Given the description of an element on the screen output the (x, y) to click on. 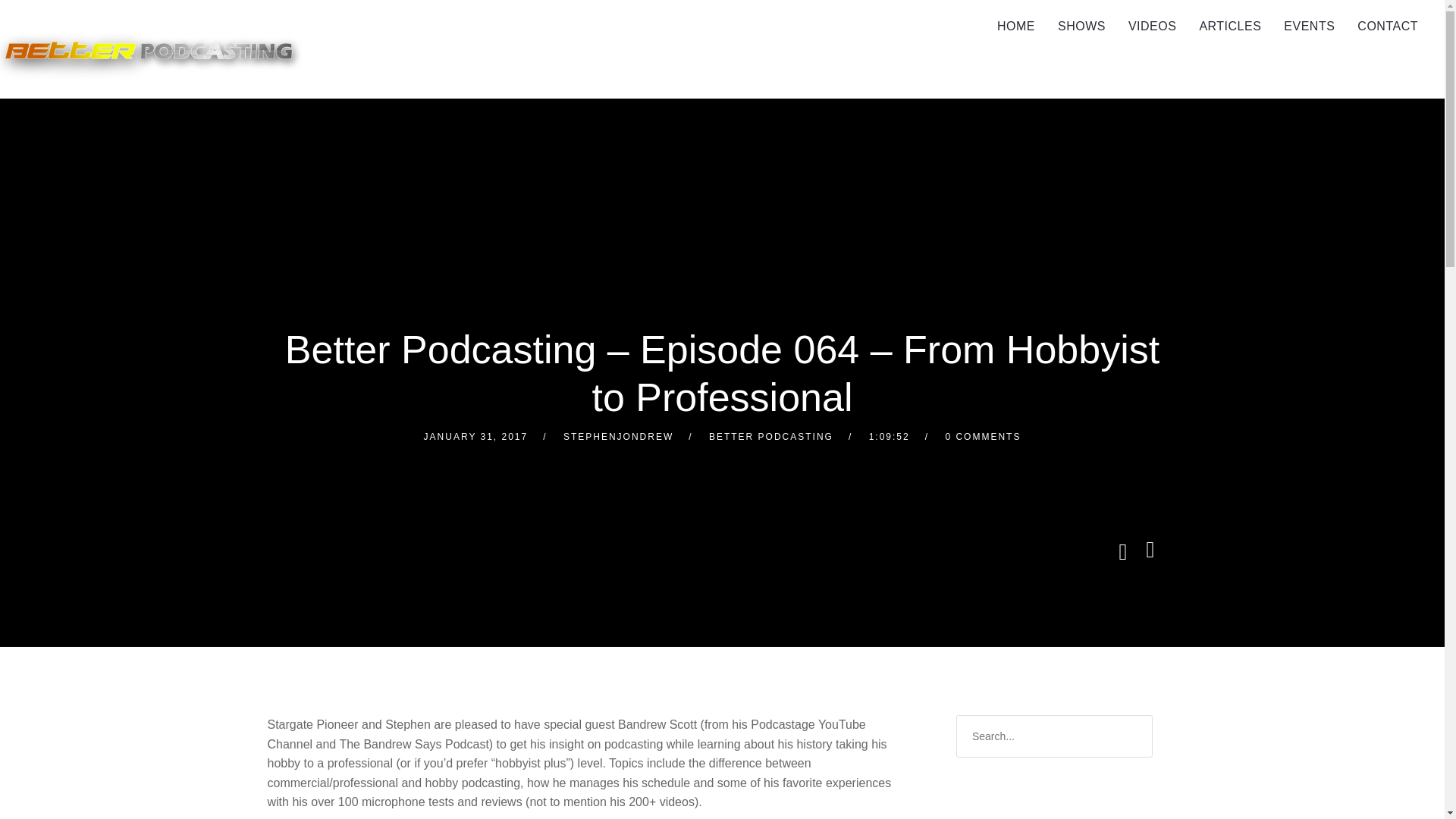
EVENTS (1308, 26)
HOME (1015, 26)
VIDEOS (1152, 26)
ARTICLES (1230, 26)
CONTACT (1387, 26)
Better Podcasting (151, 49)
SHOWS (1081, 26)
